Given the description of an element on the screen output the (x, y) to click on. 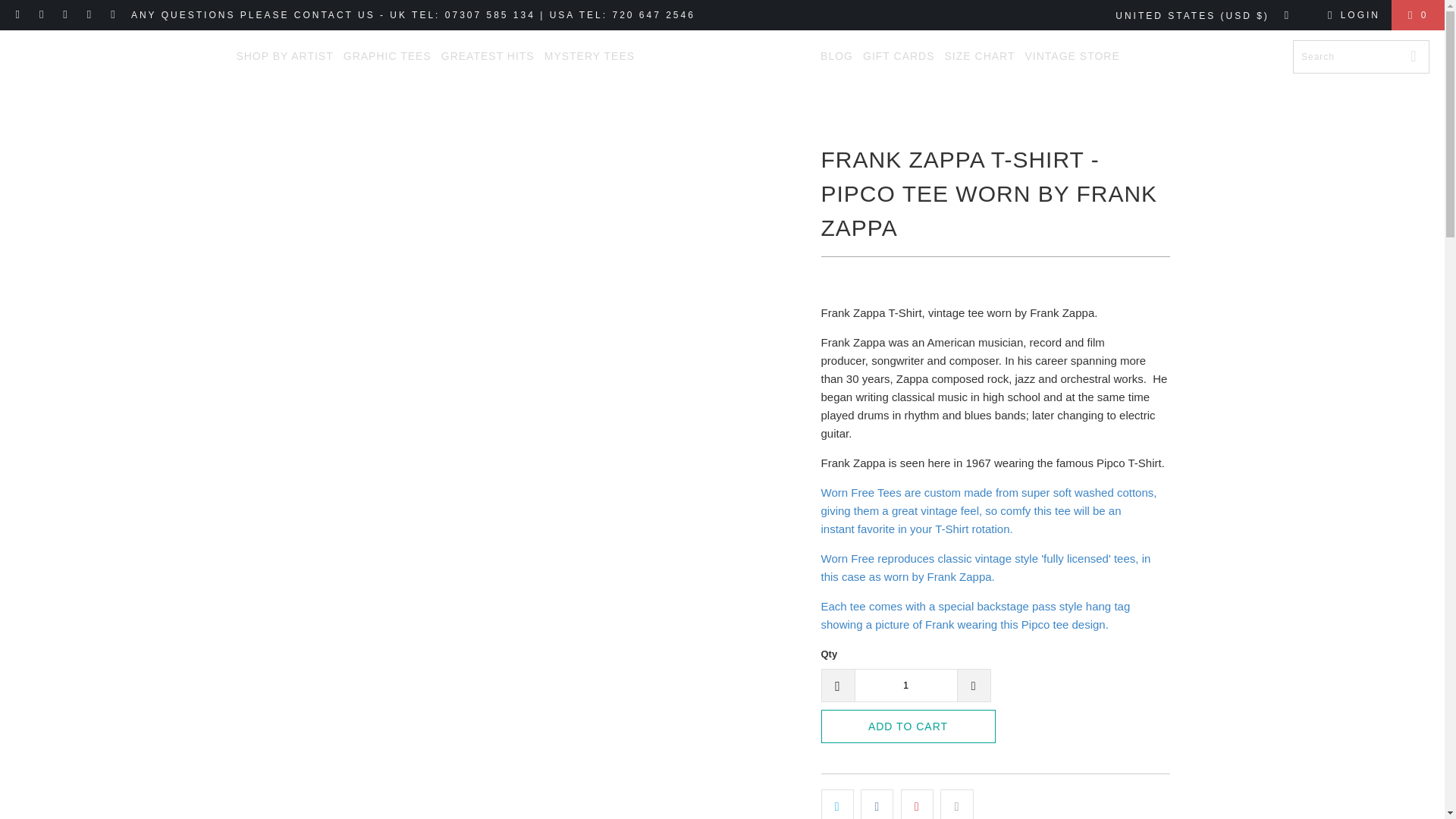
Worn Free on Twitter (112, 14)
Worn Free on Tumblr (89, 14)
Worn Free on Facebook (41, 14)
Share this on Twitter (837, 804)
My Account  (1351, 14)
Share this on Pinterest (917, 804)
Email Worn Free (17, 14)
Share this on Facebook (876, 804)
1 (904, 685)
Email this to a friend (956, 804)
Worn Free on Instagram (65, 14)
